Given the description of an element on the screen output the (x, y) to click on. 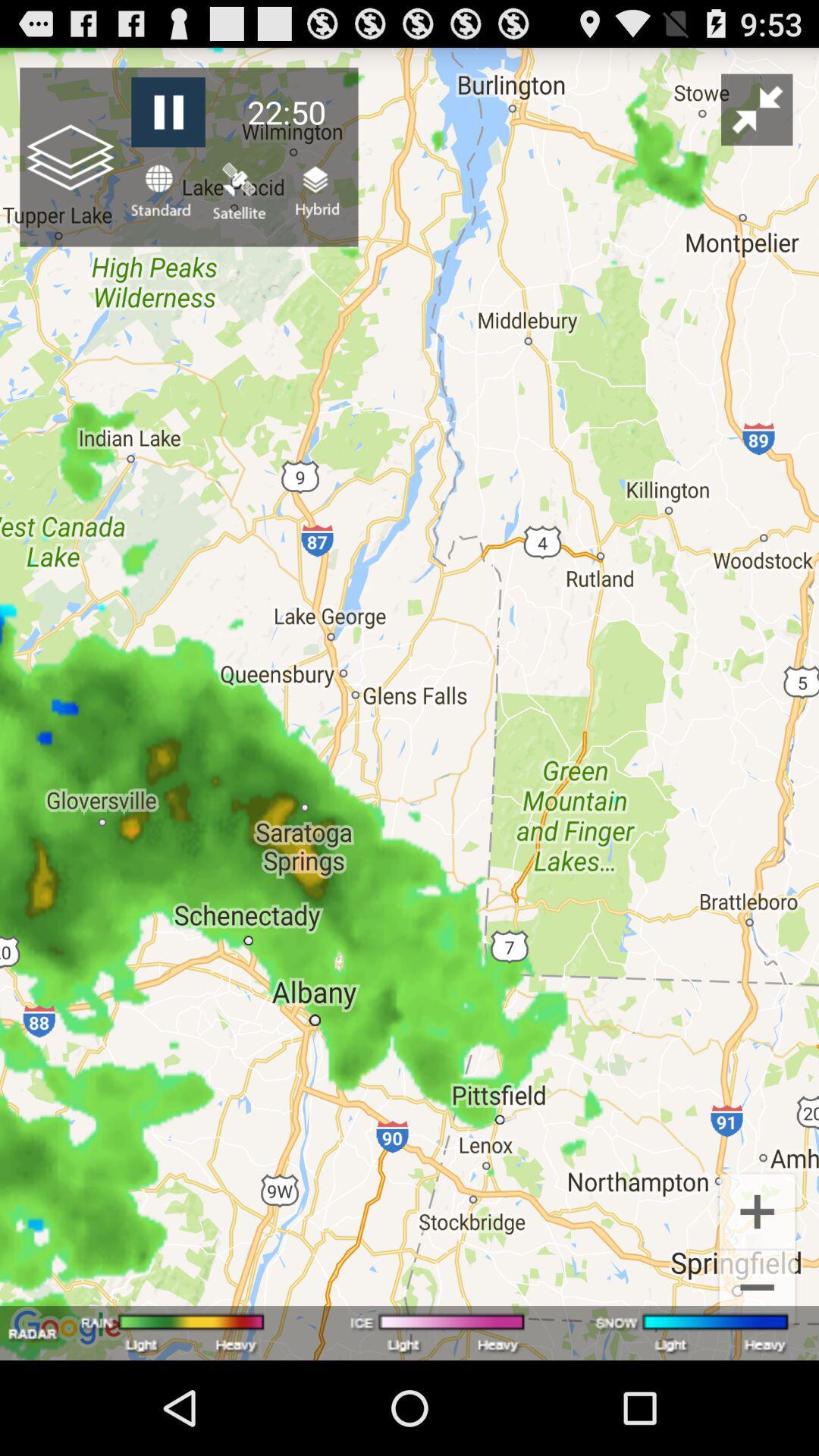
launch app next to the 22:50 (756, 109)
